Given the description of an element on the screen output the (x, y) to click on. 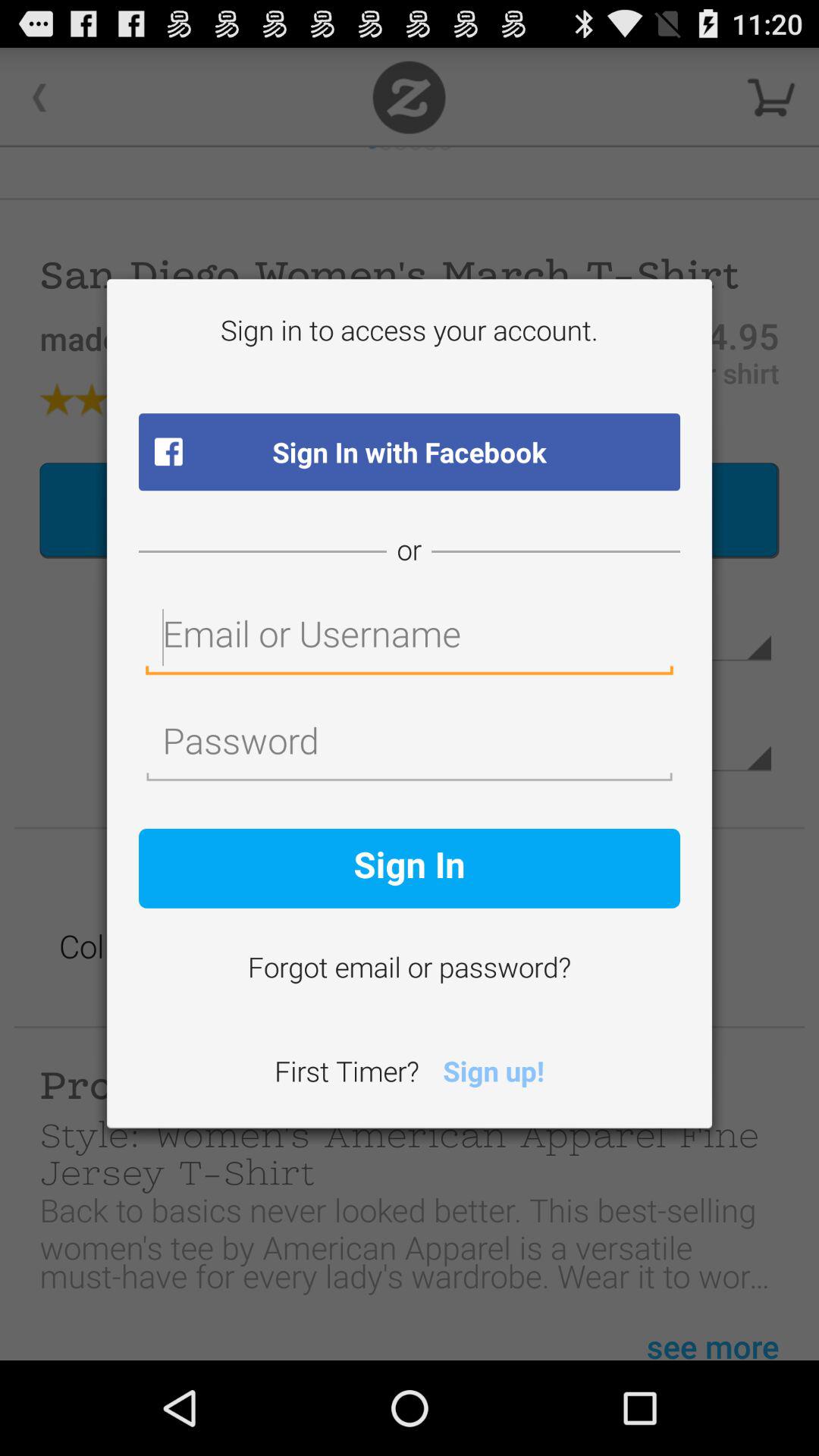
enter your password (409, 744)
